Given the description of an element on the screen output the (x, y) to click on. 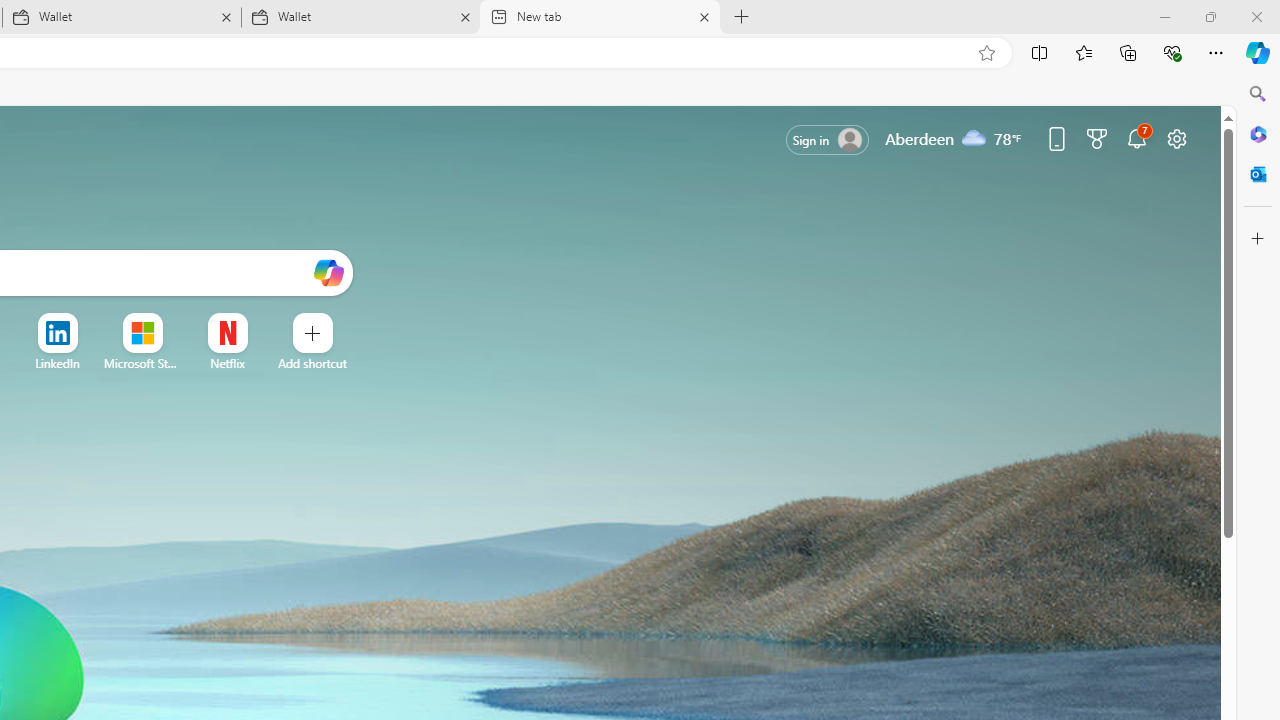
Open Copilot (328, 272)
